Given the description of an element on the screen output the (x, y) to click on. 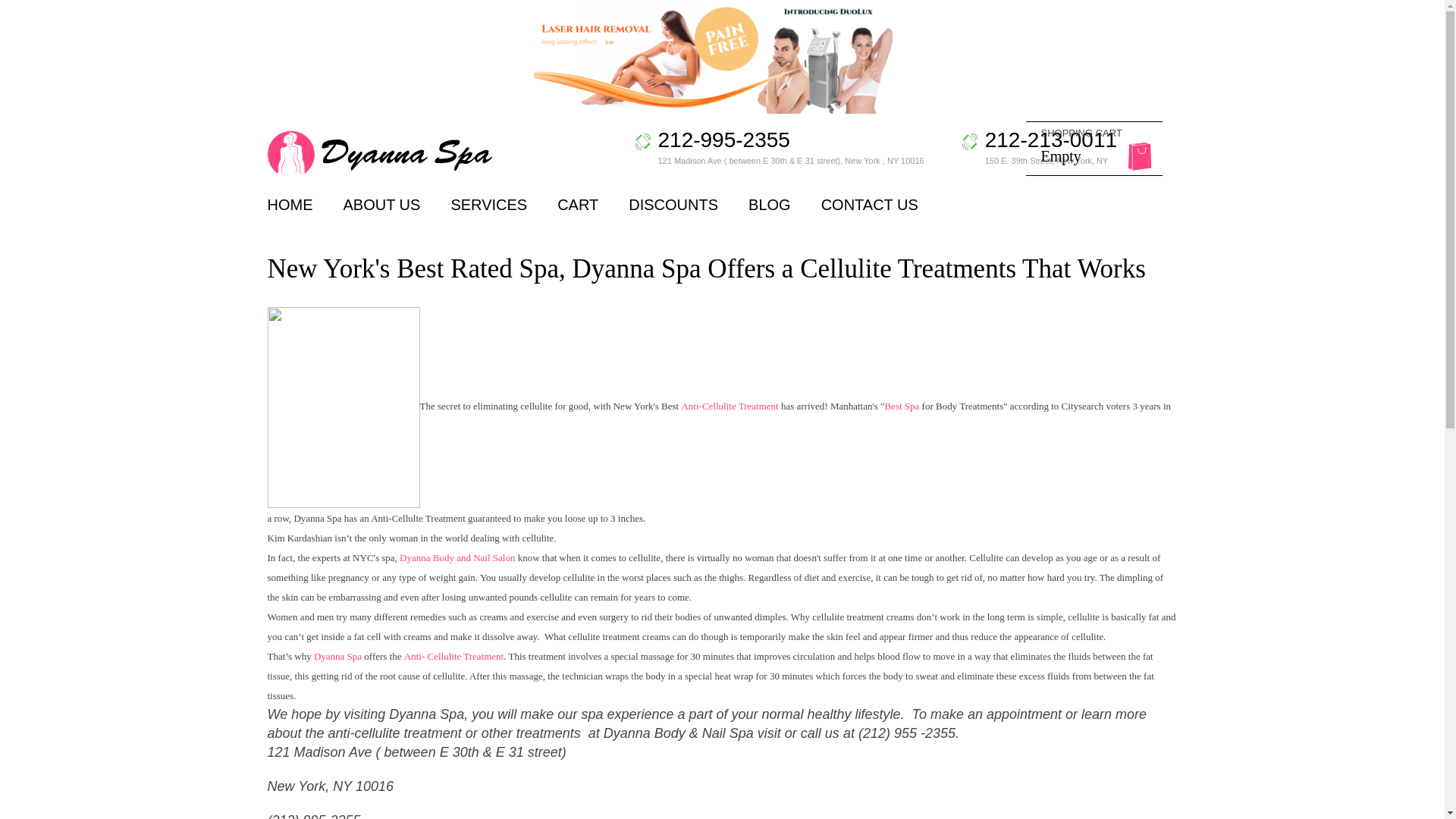
Dyanna Spa (337, 655)
Best Spa (900, 405)
Anti-Cellulite Treatment (1037, 149)
ABOUT US (729, 405)
Anti- Cellulite Treatment (381, 204)
Dyanna Body and Nail Salon (453, 655)
HOME (458, 557)
SERVICES (289, 204)
